Given the description of an element on the screen output the (x, y) to click on. 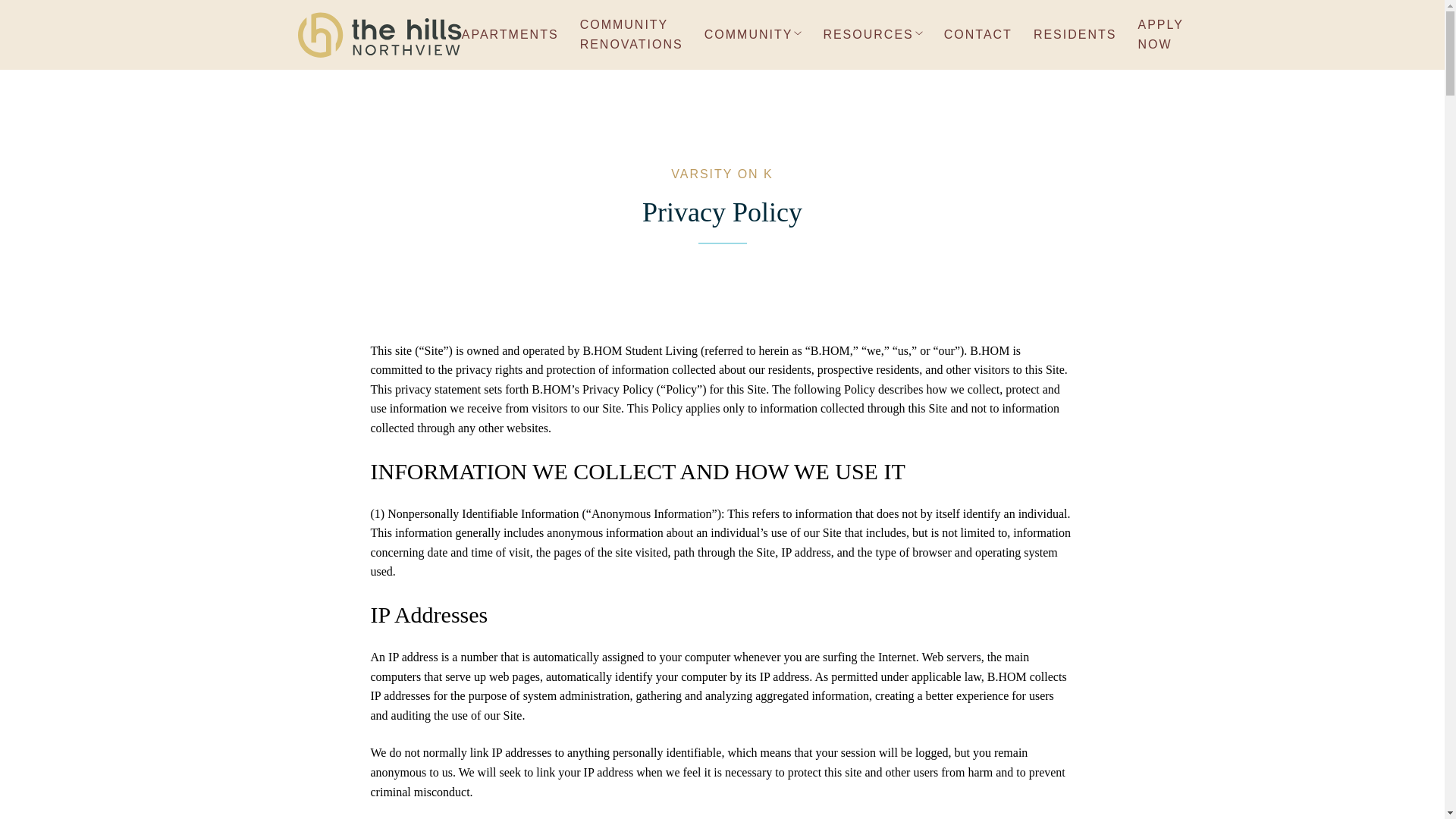
COMMUNITY (753, 35)
APARTMENTS (510, 35)
RESOURCES (871, 35)
APPLY NOW (1159, 34)
RESIDENTS (1074, 35)
COMMUNITY RENOVATIONS (630, 34)
CONTACT (977, 35)
